Given the description of an element on the screen output the (x, y) to click on. 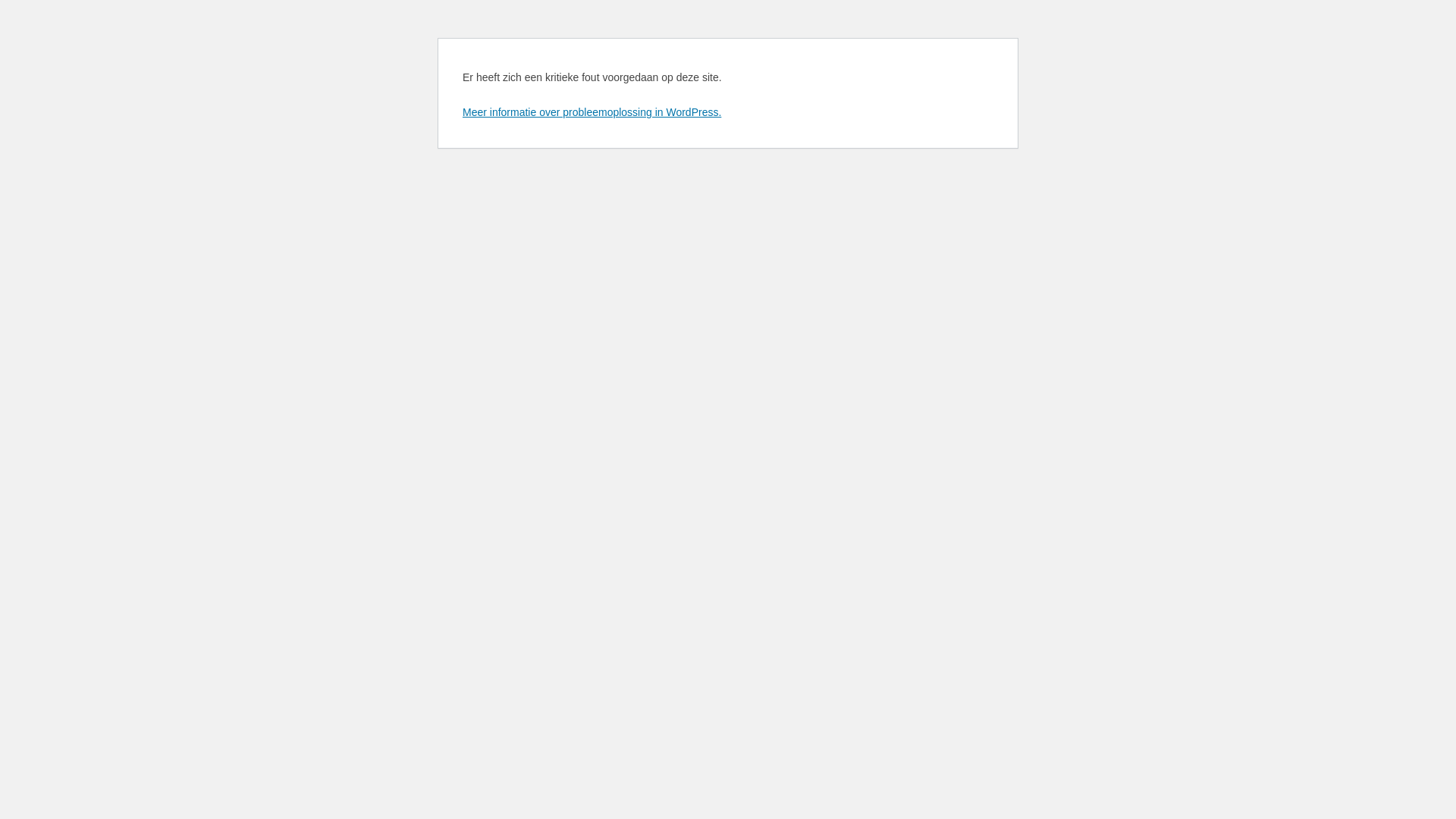
Meer informatie over probleemoplossing in WordPress. Element type: text (591, 112)
